Given the description of an element on the screen output the (x, y) to click on. 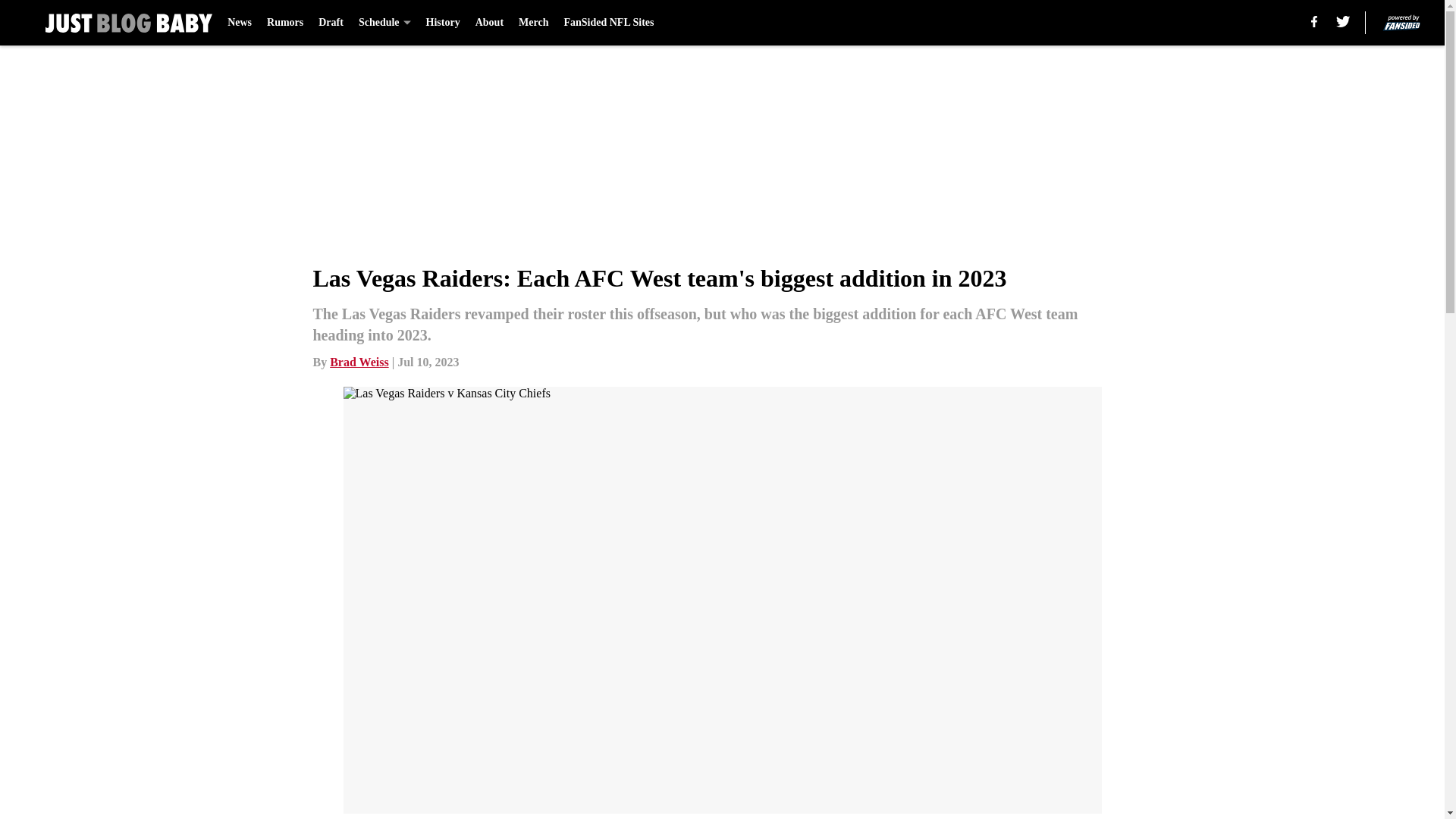
About (489, 22)
History (443, 22)
Rumors (284, 22)
Brad Weiss (359, 361)
Merch (533, 22)
FanSided NFL Sites (608, 22)
Draft (330, 22)
News (239, 22)
